Given the description of an element on the screen output the (x, y) to click on. 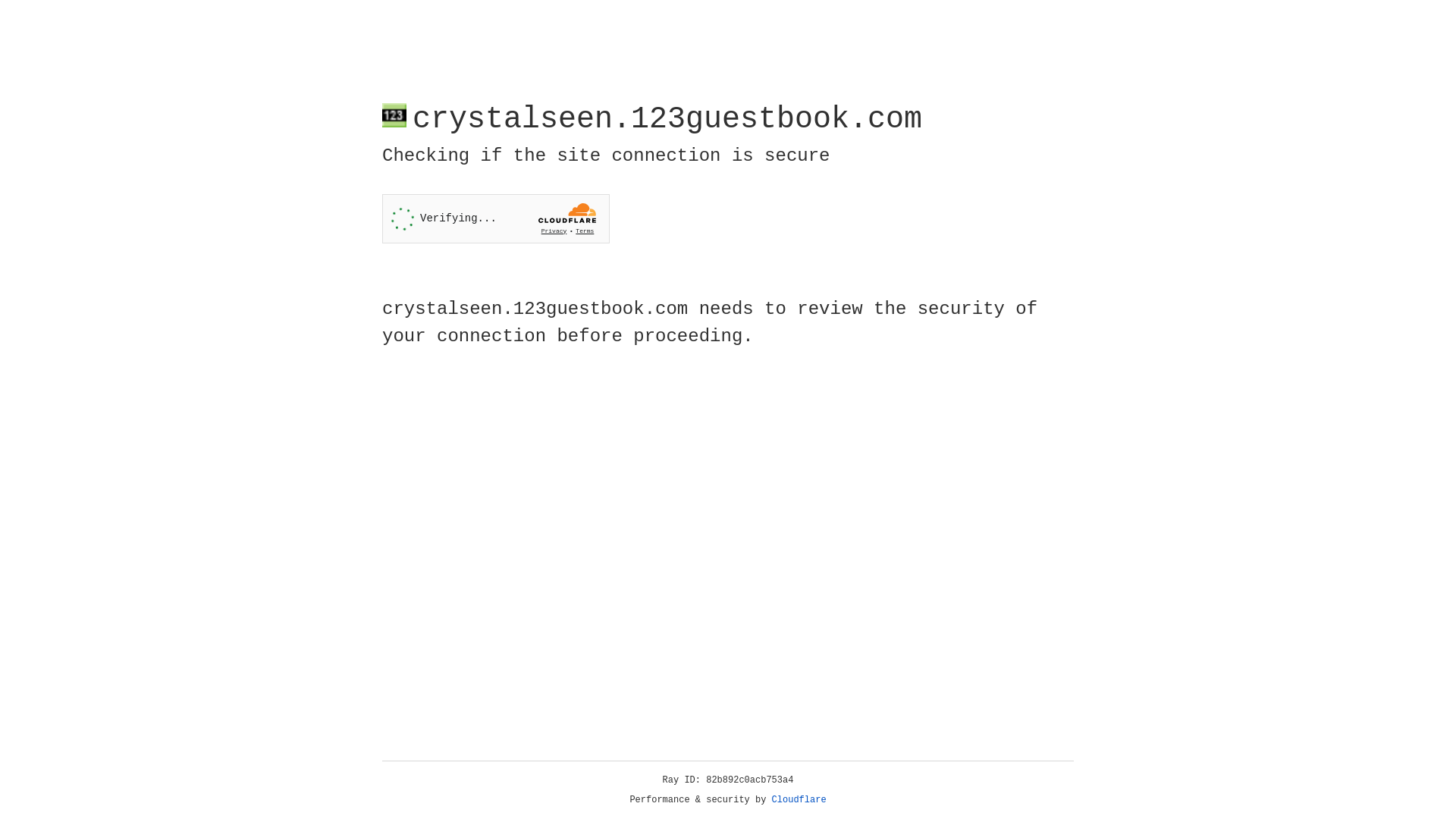
Widget containing a Cloudflare security challenge Element type: hover (495, 218)
Cloudflare Element type: text (798, 799)
